Given the description of an element on the screen output the (x, y) to click on. 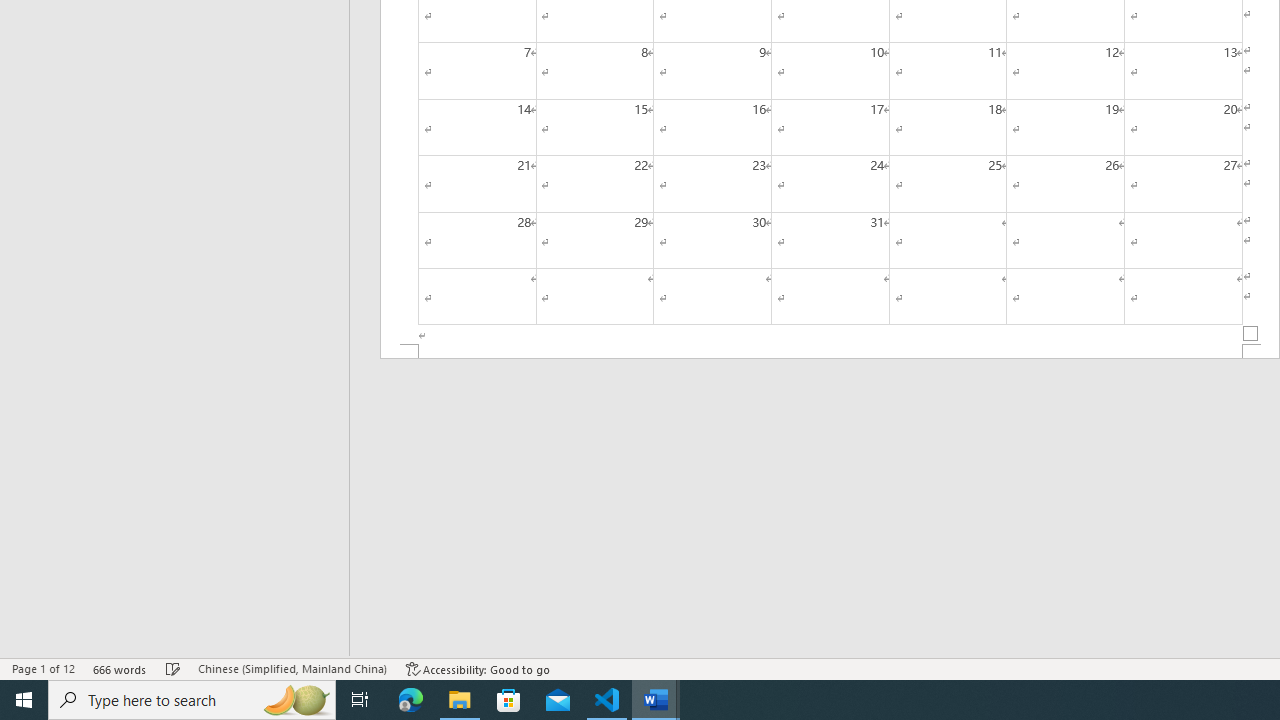
Page Number Page 1 of 12 (43, 668)
Footer -Section 1- (830, 351)
Spelling and Grammar Check Checking (173, 668)
Language Chinese (Simplified, Mainland China) (292, 668)
Word Count 666 words (119, 668)
Accessibility Checker Accessibility: Good to go (478, 668)
